Given the description of an element on the screen output the (x, y) to click on. 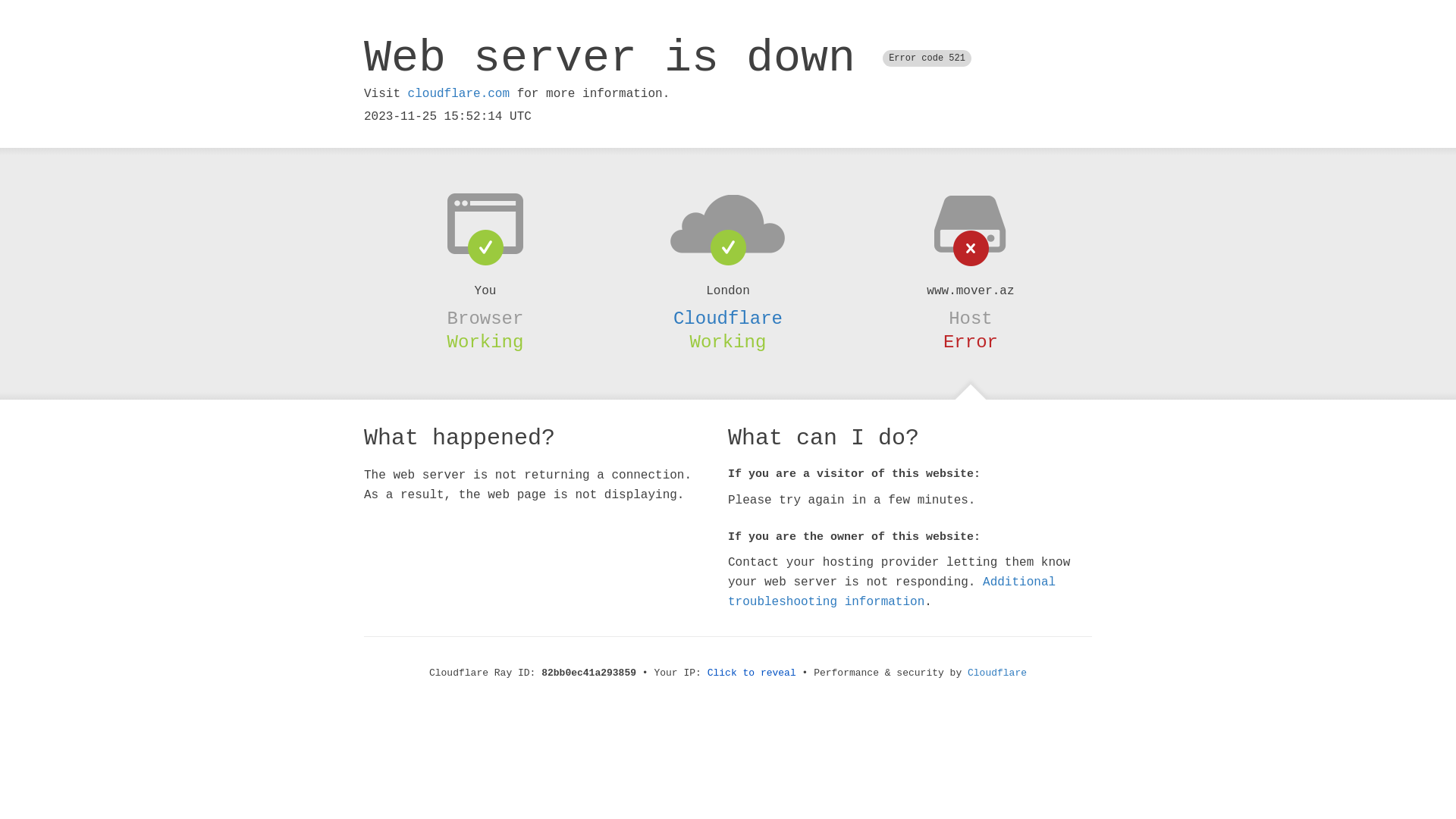
Click to reveal Element type: text (751, 672)
cloudflare.com Element type: text (458, 93)
Cloudflare Element type: text (727, 318)
Cloudflare Element type: text (996, 672)
Additional troubleshooting information Element type: text (891, 591)
